Given the description of an element on the screen output the (x, y) to click on. 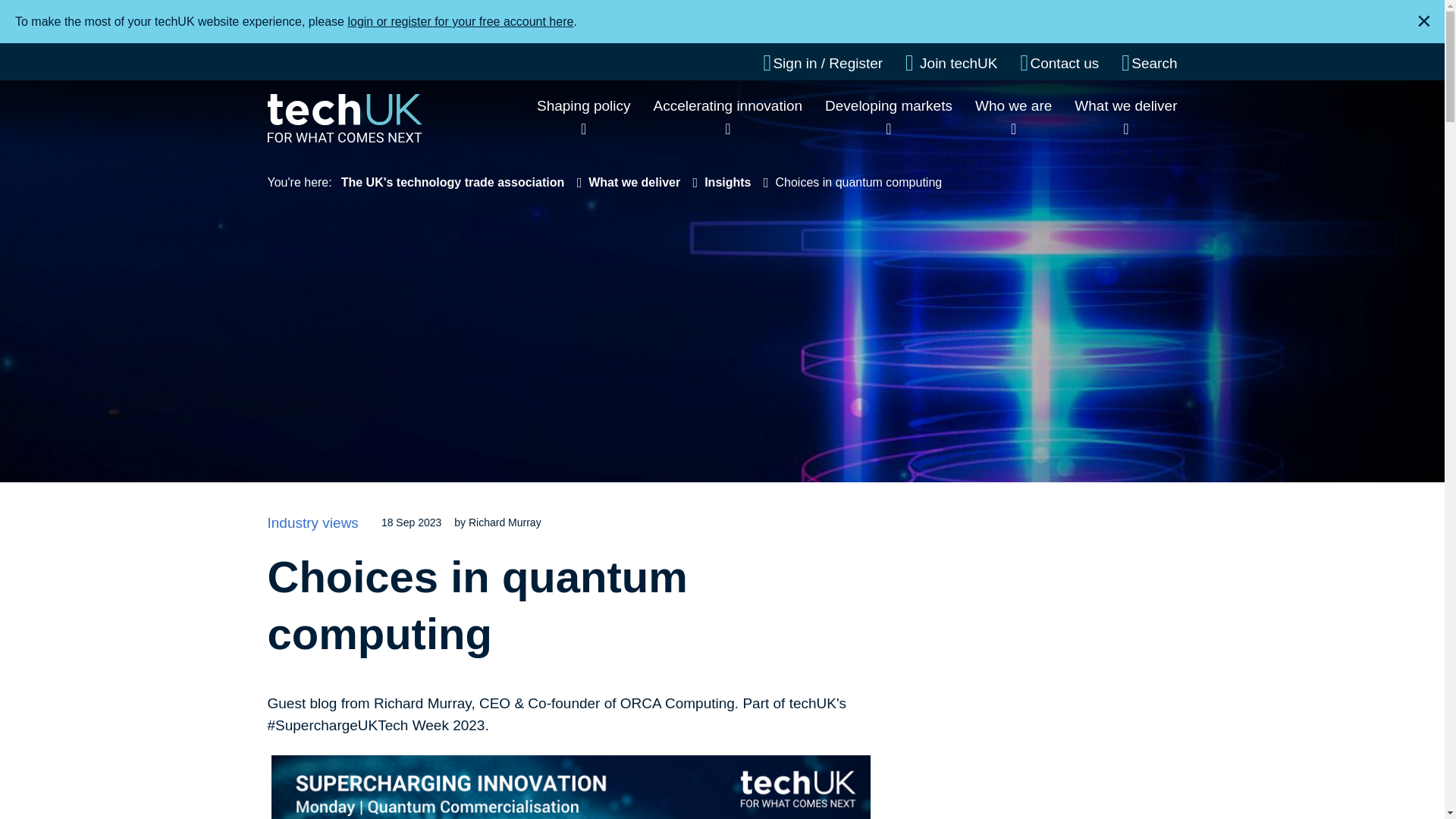
login or register for your free account here (460, 21)
Contact us (1059, 62)
Search (1148, 62)
Join techUK (951, 62)
Shaping policy (583, 105)
Accelerating innovation (727, 105)
